Given the description of an element on the screen output the (x, y) to click on. 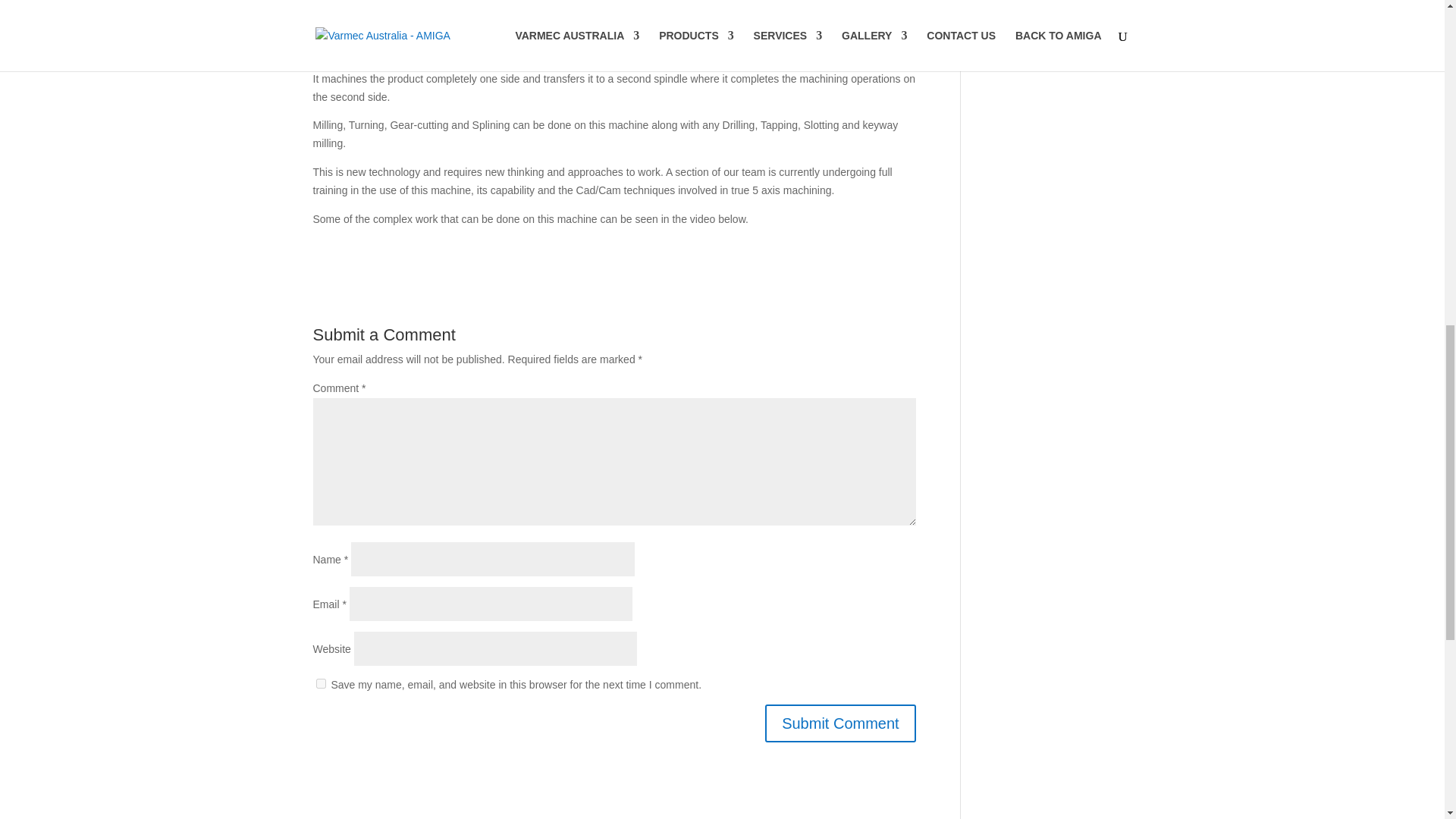
Submit Comment (840, 723)
yes (319, 683)
Submit Comment (840, 723)
